Given the description of an element on the screen output the (x, y) to click on. 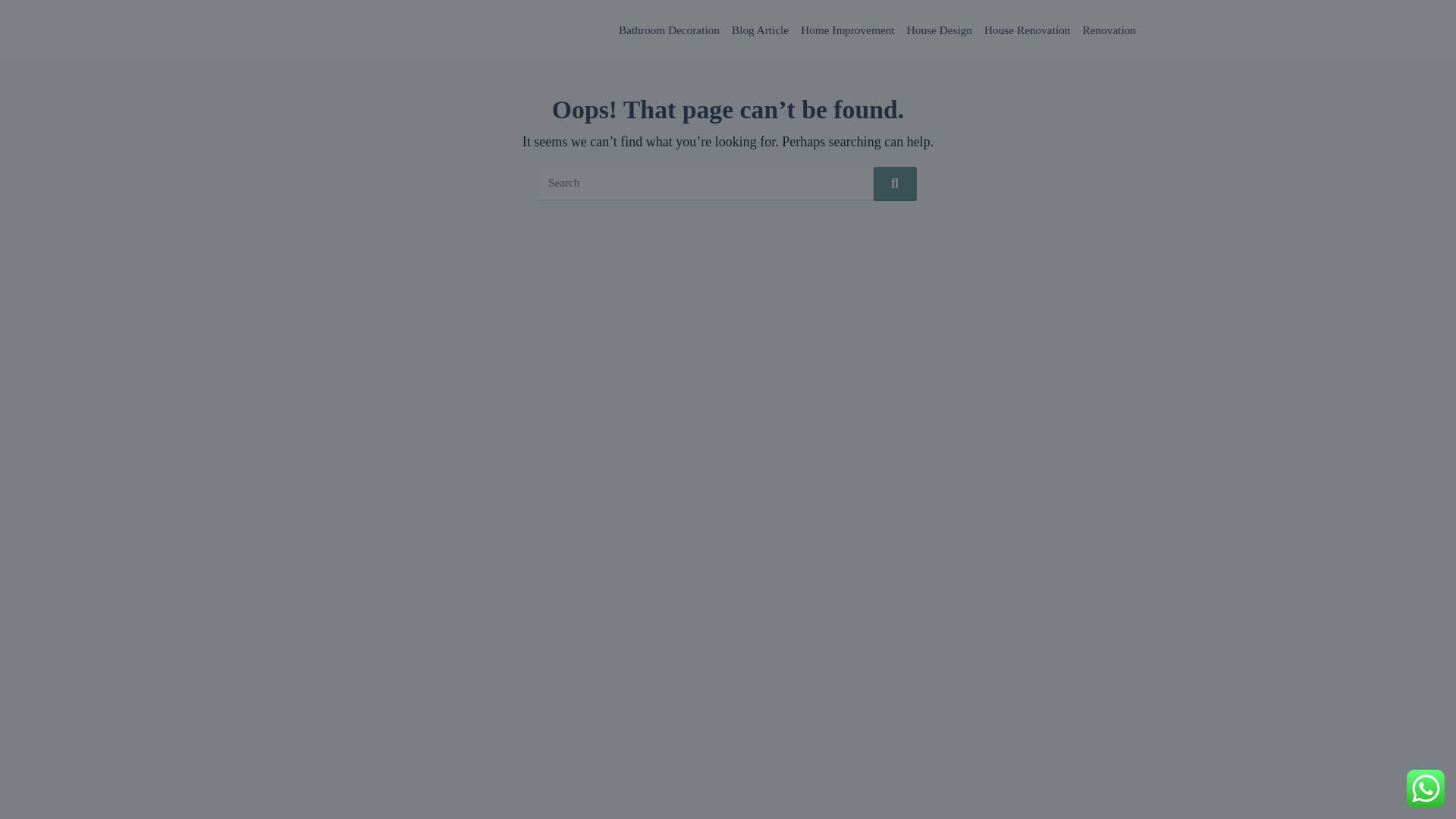
House Design (939, 30)
Renovation (1108, 30)
Blog Article (759, 30)
Home Improvement (847, 30)
Bathroom Decoration (668, 30)
House Renovation (1026, 30)
